Given the description of an element on the screen output the (x, y) to click on. 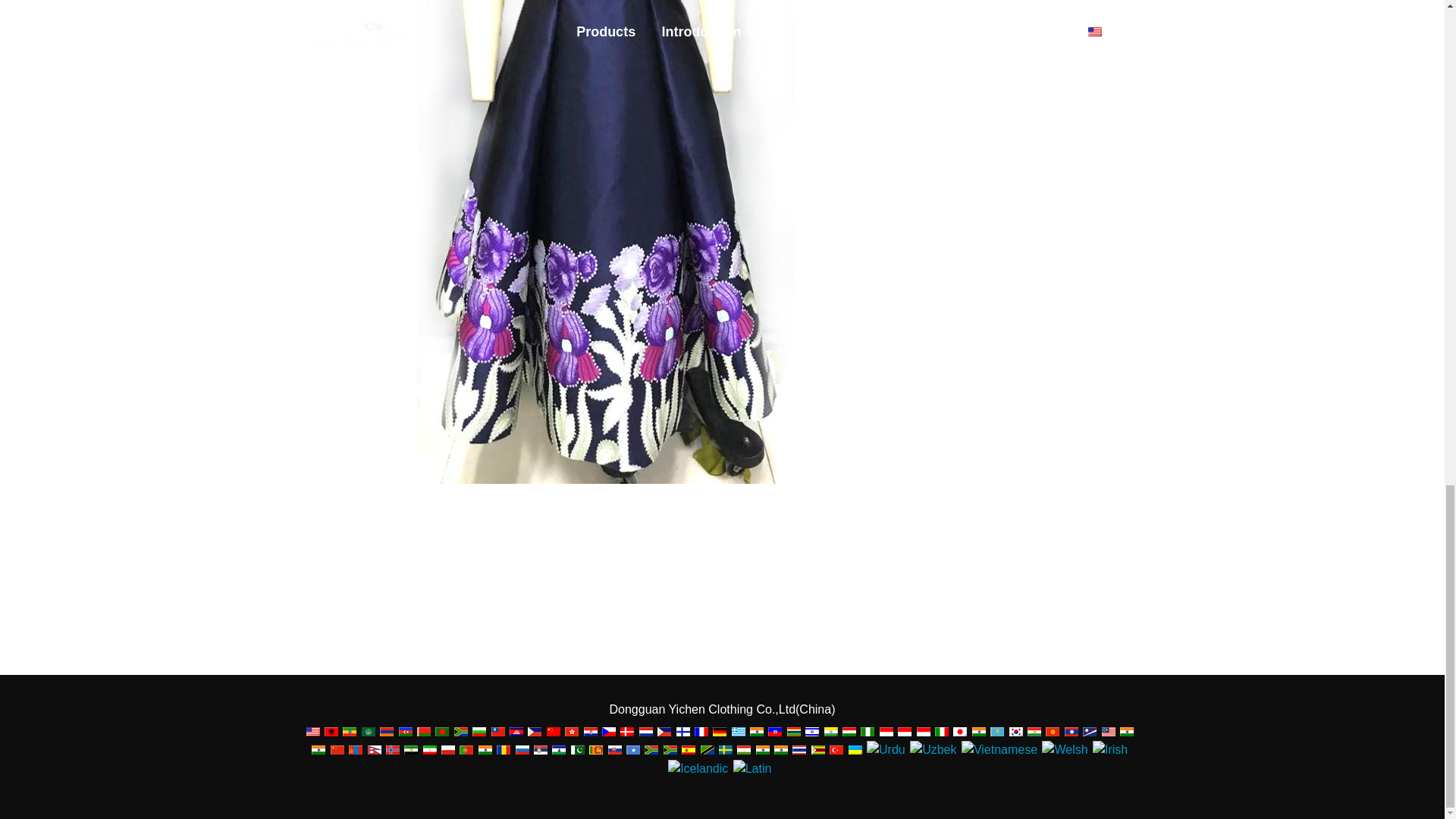
Croatian (589, 731)
Burmese (498, 731)
Bengali (441, 731)
Cebuano (534, 731)
Bulgarian (478, 731)
Chinese Traditional (571, 731)
Amharic (349, 731)
Belarusian (423, 731)
Arabic (368, 731)
Azerbaijani (405, 731)
